Given the description of an element on the screen output the (x, y) to click on. 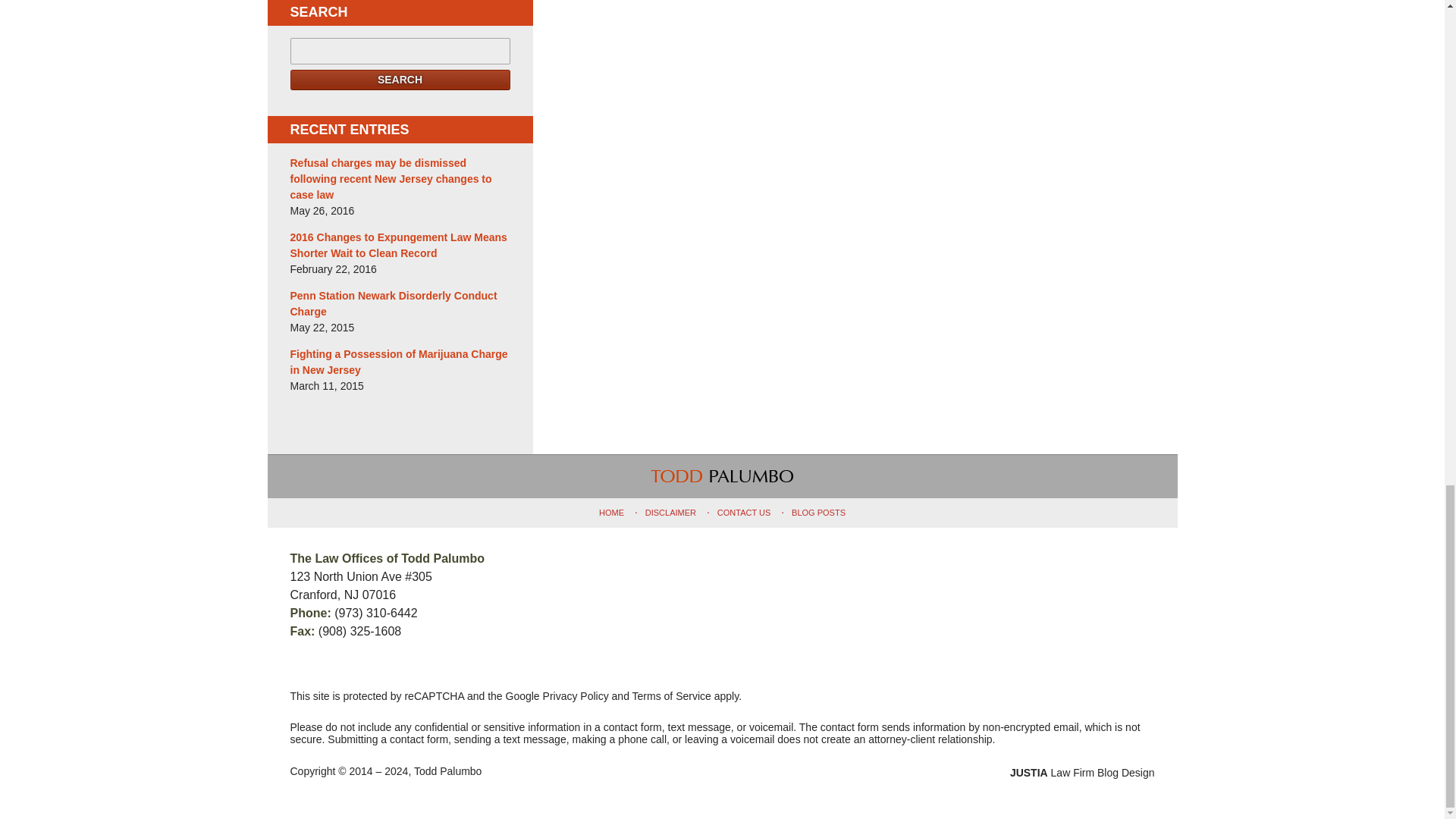
SEARCH (399, 79)
